Given the description of an element on the screen output the (x, y) to click on. 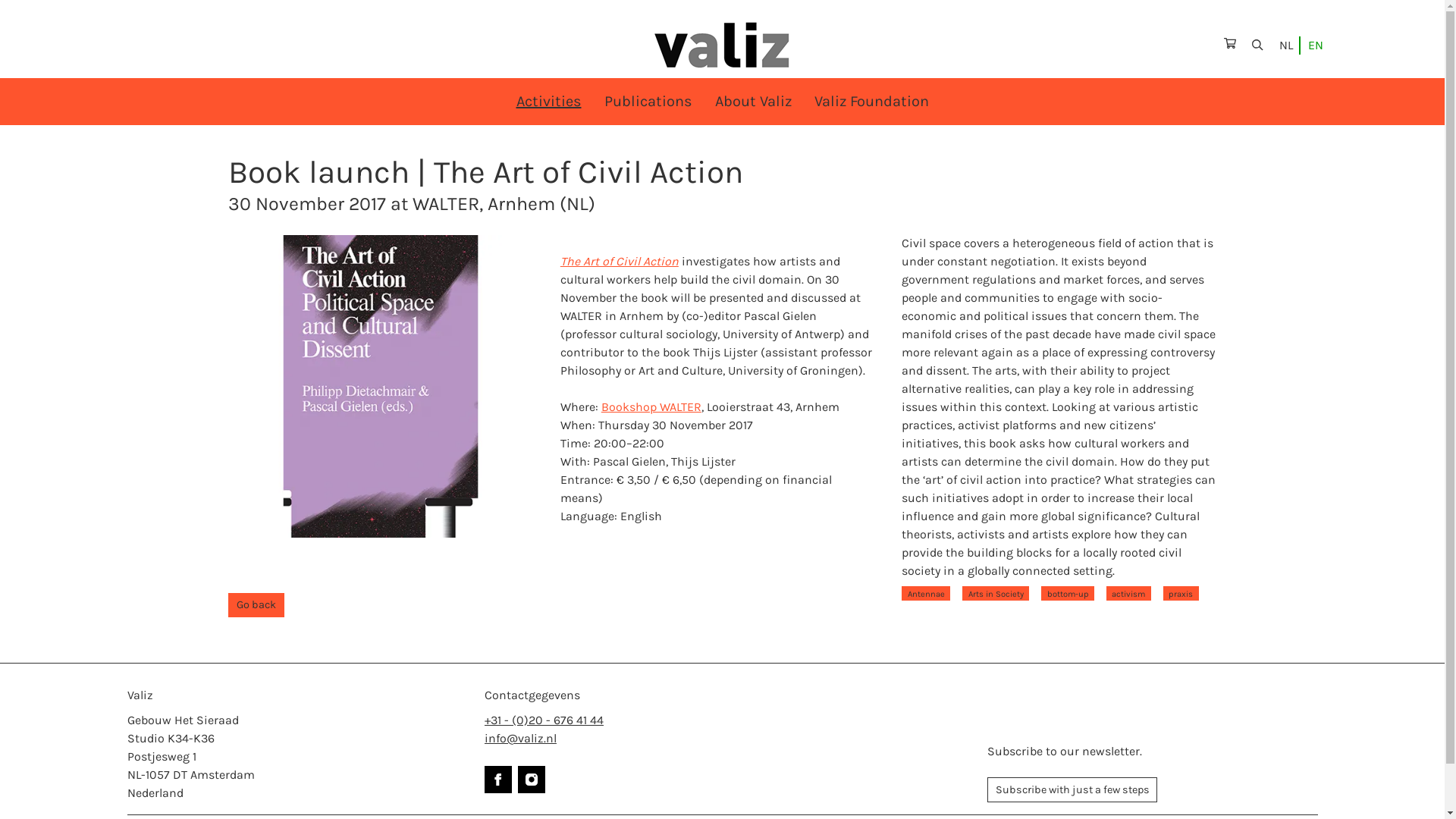
Arts in Society (995, 593)
Valiz Foundation (870, 101)
Open the search form (1257, 44)
bottom-up (1067, 593)
About Valiz (752, 101)
Go back (255, 604)
Activities (547, 101)
The Art of Civil Action (619, 260)
praxis (1180, 593)
Valiz on Instagram (531, 779)
Antennae (925, 593)
Publications (647, 101)
Bookshop WALTER (651, 406)
Subscribe with just a few steps (1072, 789)
Naar beginpagina van Valiz.nl (722, 45)
